Given the description of an element on the screen output the (x, y) to click on. 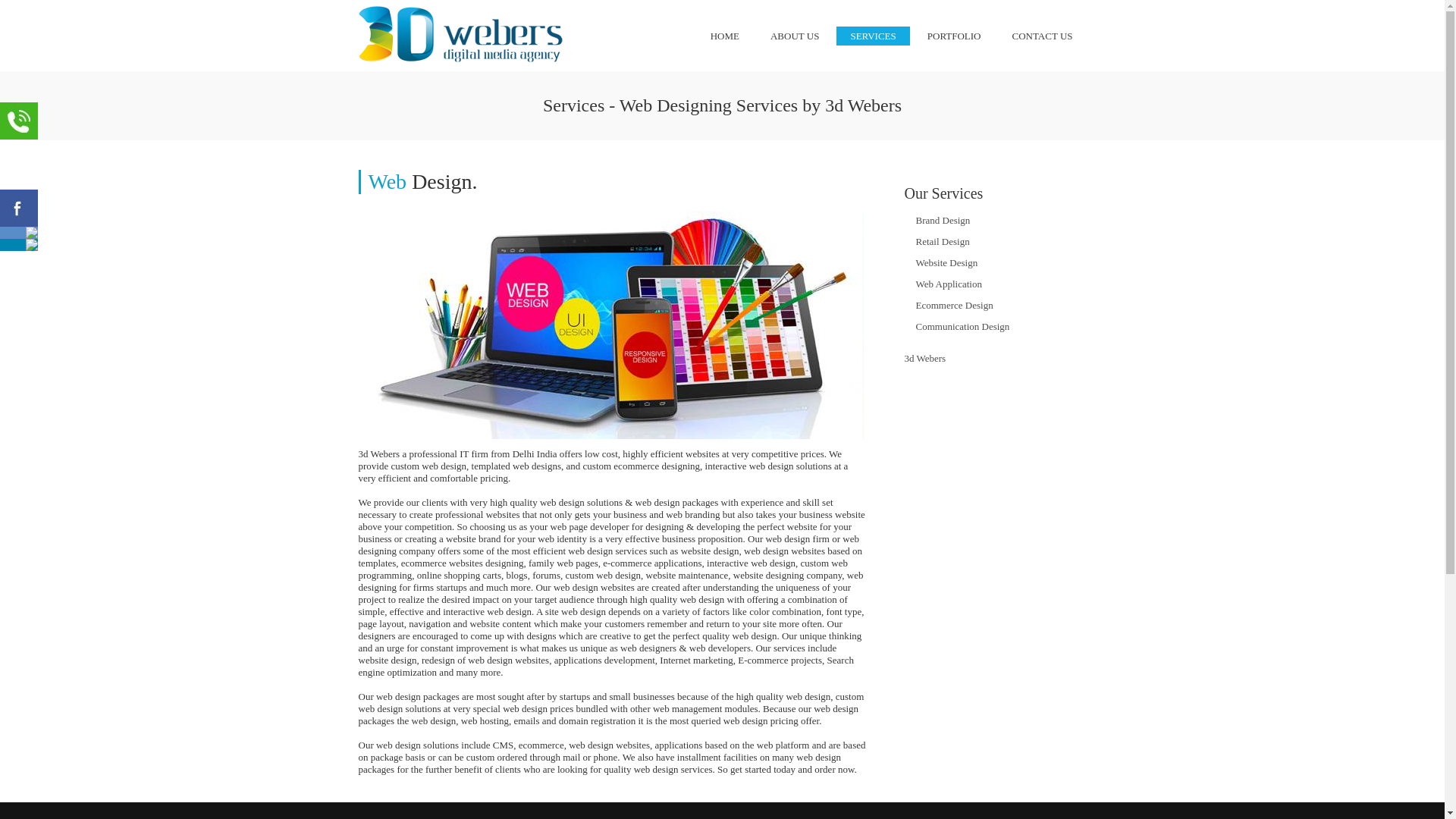
Website Design Element type: text (947, 262)
Web Application Element type: text (949, 283)
Communication Design Element type: text (963, 326)
Ecommerce Design Element type: text (954, 304)
SERVICES Element type: text (872, 35)
HOME Element type: text (724, 35)
Brand Design Element type: text (943, 219)
3d Webers Element type: text (924, 358)
Retail Design Element type: text (942, 241)
CONTACT US Element type: text (1042, 35)
PORTFOLIO Element type: text (953, 35)
ABOUT US Element type: text (794, 35)
